Given the description of an element on the screen output the (x, y) to click on. 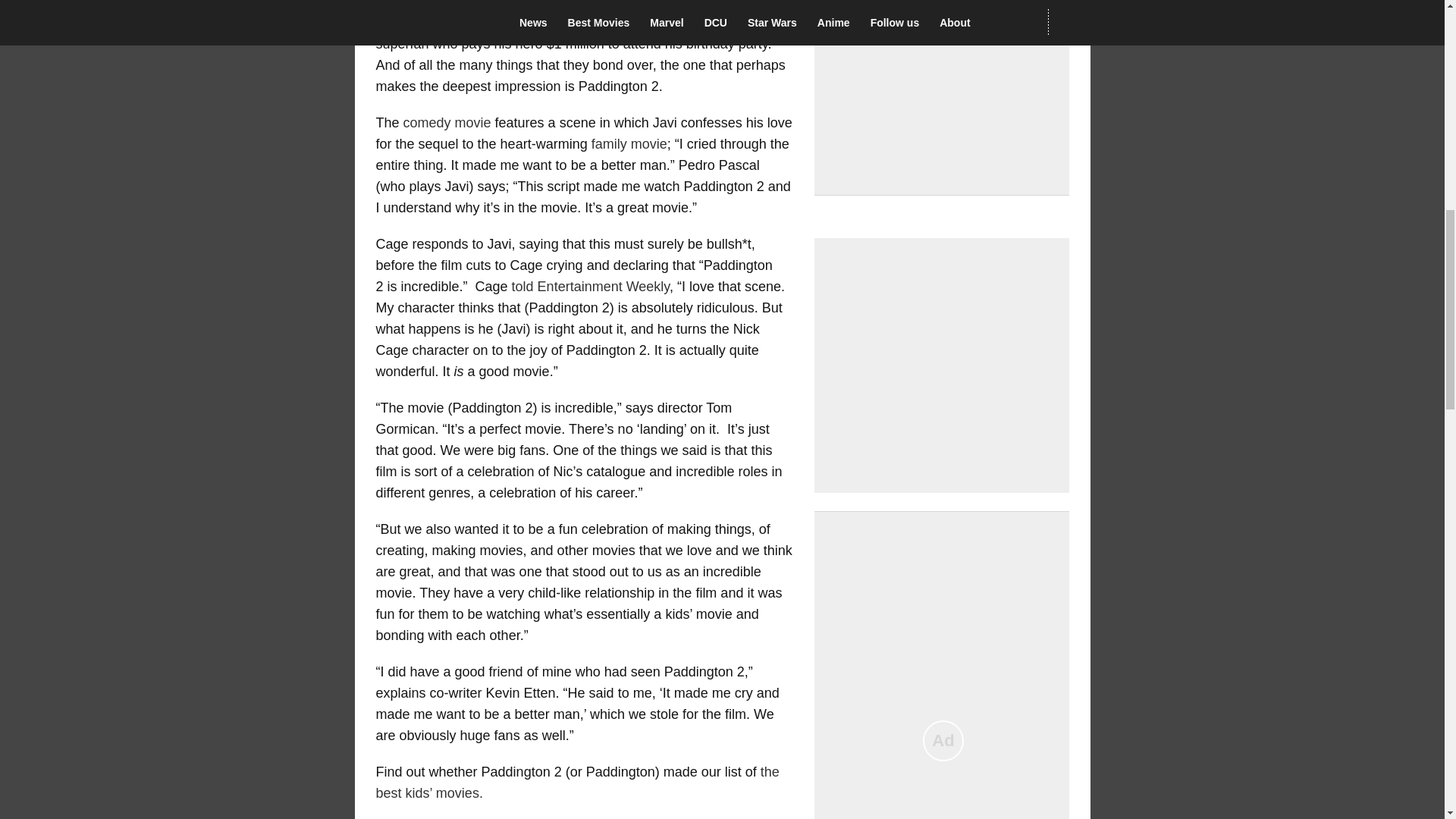
family movie (628, 143)
told Entertainment Weekly (590, 286)
comedy movie (447, 122)
